Given the description of an element on the screen output the (x, y) to click on. 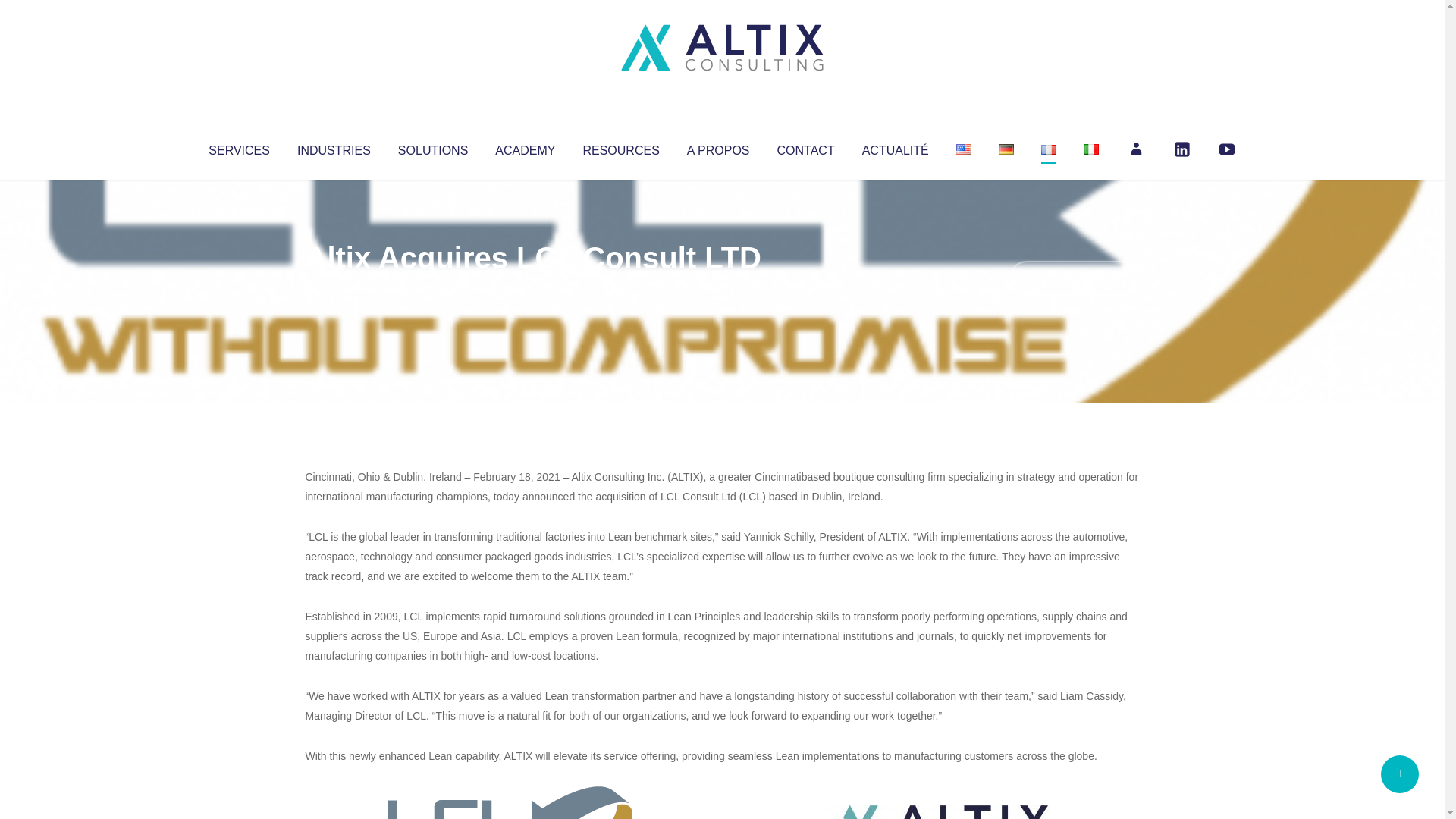
Uncategorized (530, 287)
INDUSTRIES (334, 146)
SERVICES (238, 146)
A PROPOS (718, 146)
RESOURCES (620, 146)
ACADEMY (524, 146)
SOLUTIONS (432, 146)
Articles par Altix (333, 287)
No Comments (1073, 278)
Altix (333, 287)
